Given the description of an element on the screen output the (x, y) to click on. 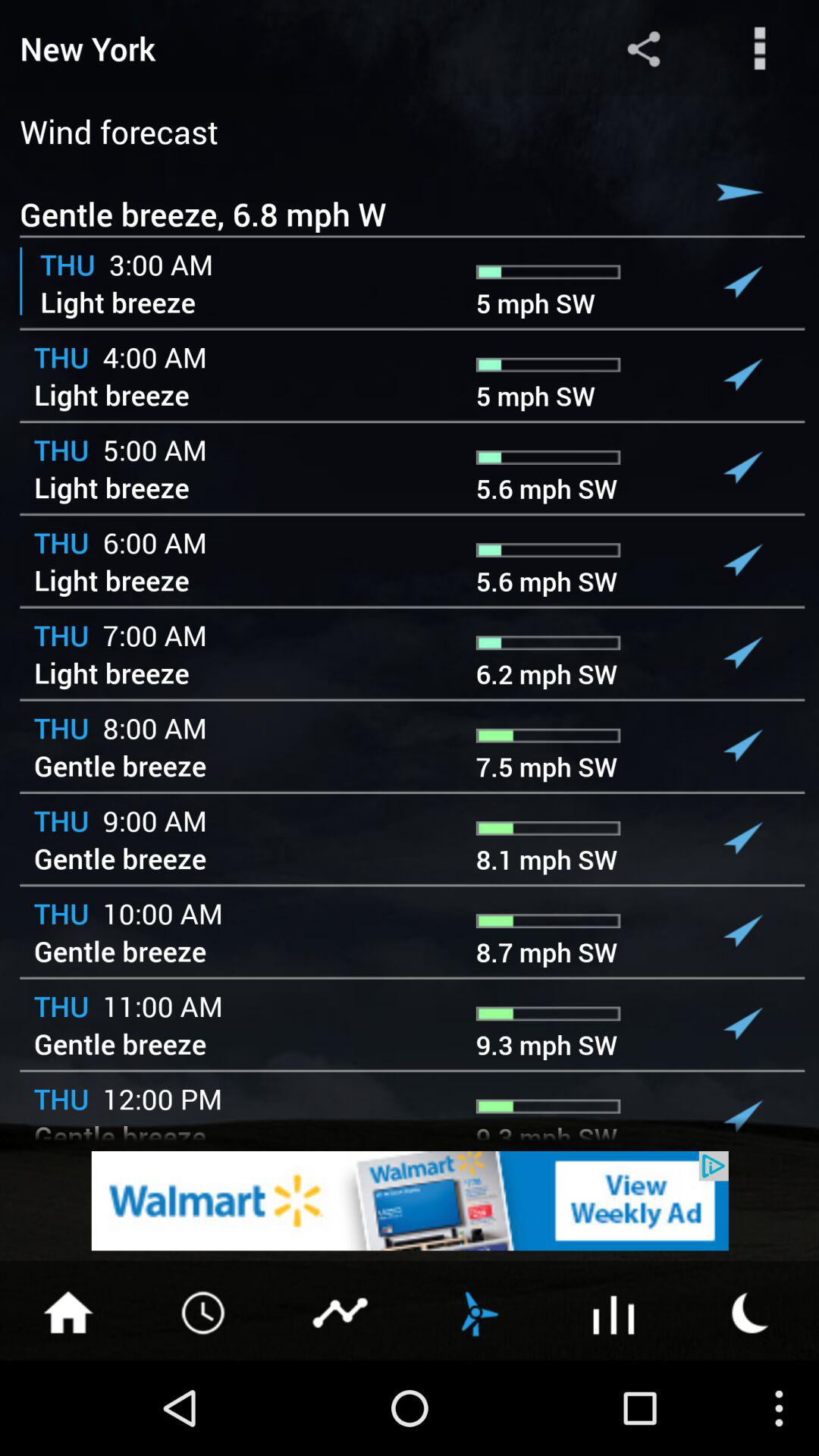
select time (204, 1311)
